Given the description of an element on the screen output the (x, y) to click on. 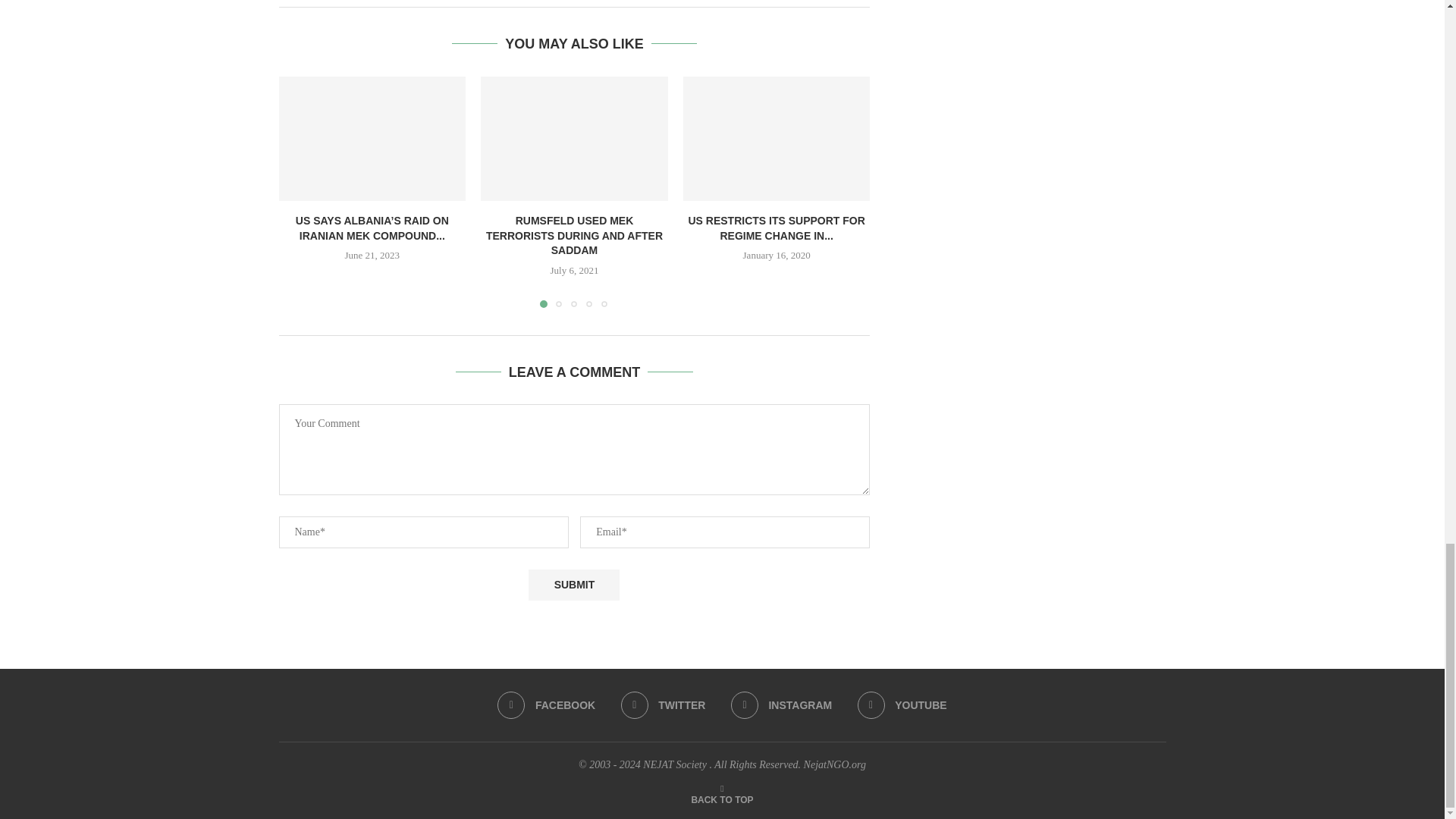
Rumsfeld Used MEK Terrorists During And After Saddam (574, 138)
Submit (574, 584)
